Given the description of an element on the screen output the (x, y) to click on. 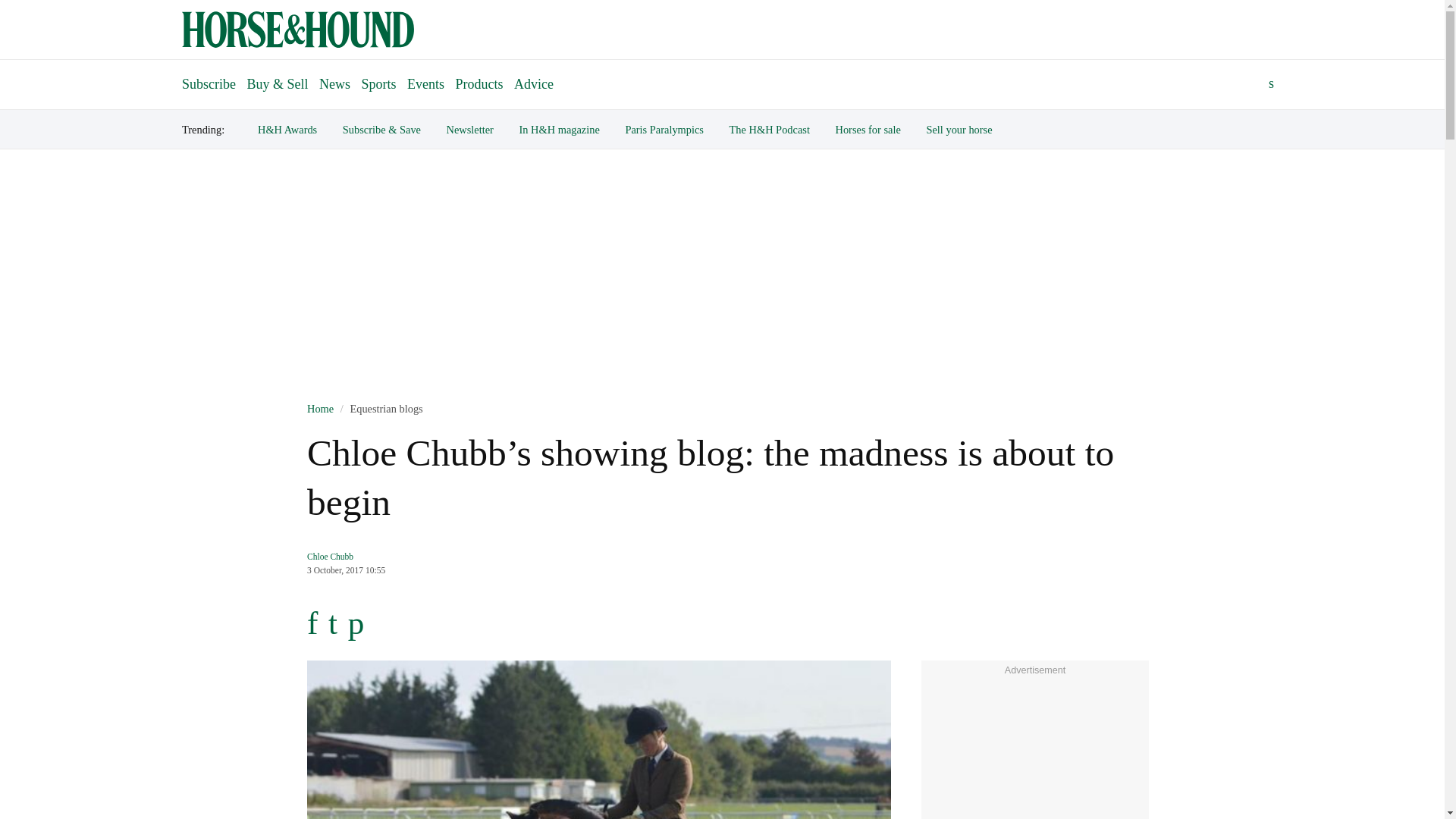
Advice (534, 83)
Events (425, 83)
Subscribe (208, 77)
Products (478, 83)
